Given the description of an element on the screen output the (x, y) to click on. 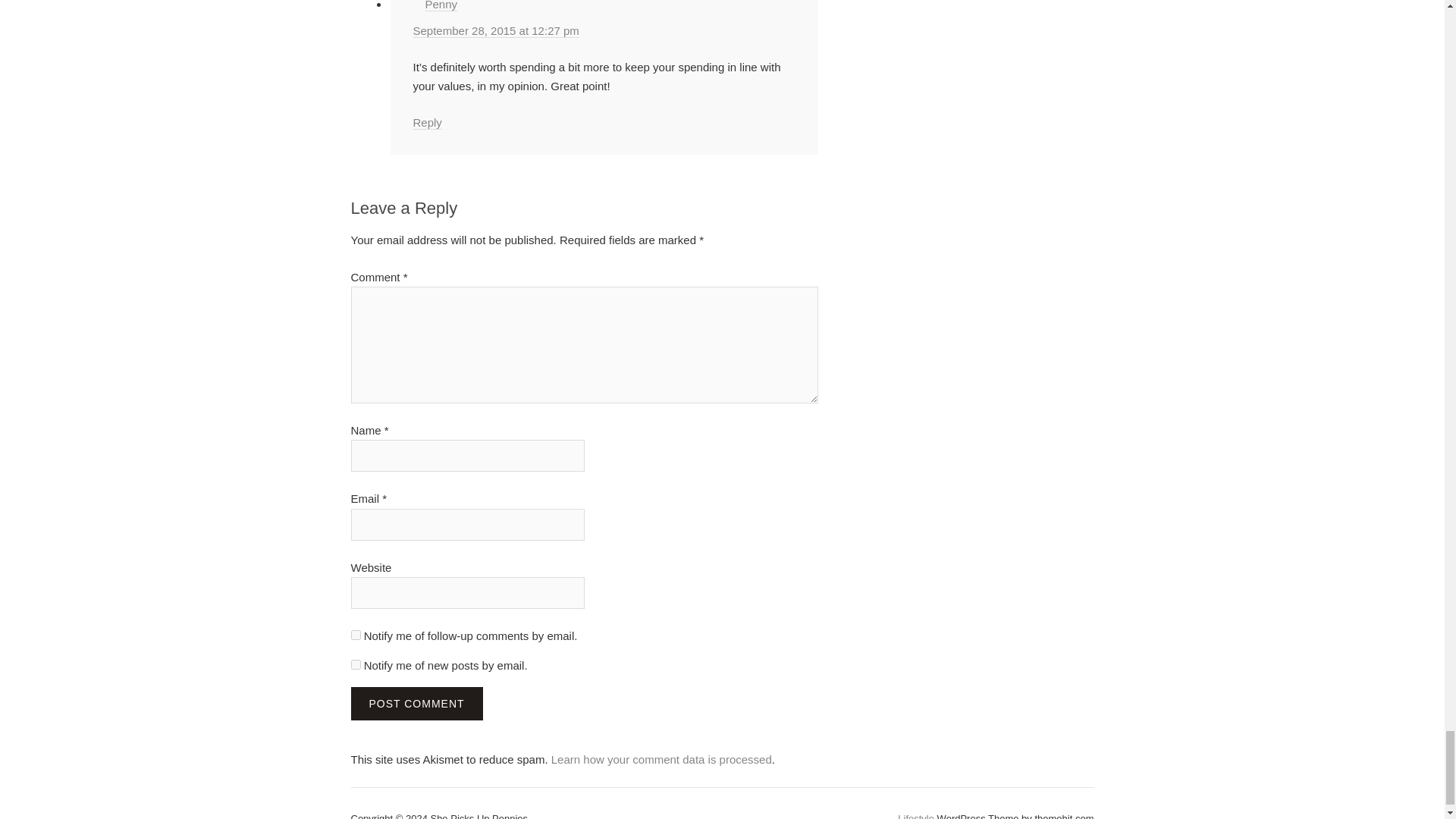
subscribe (354, 634)
Post Comment (415, 703)
subscribe (354, 664)
